Given the description of an element on the screen output the (x, y) to click on. 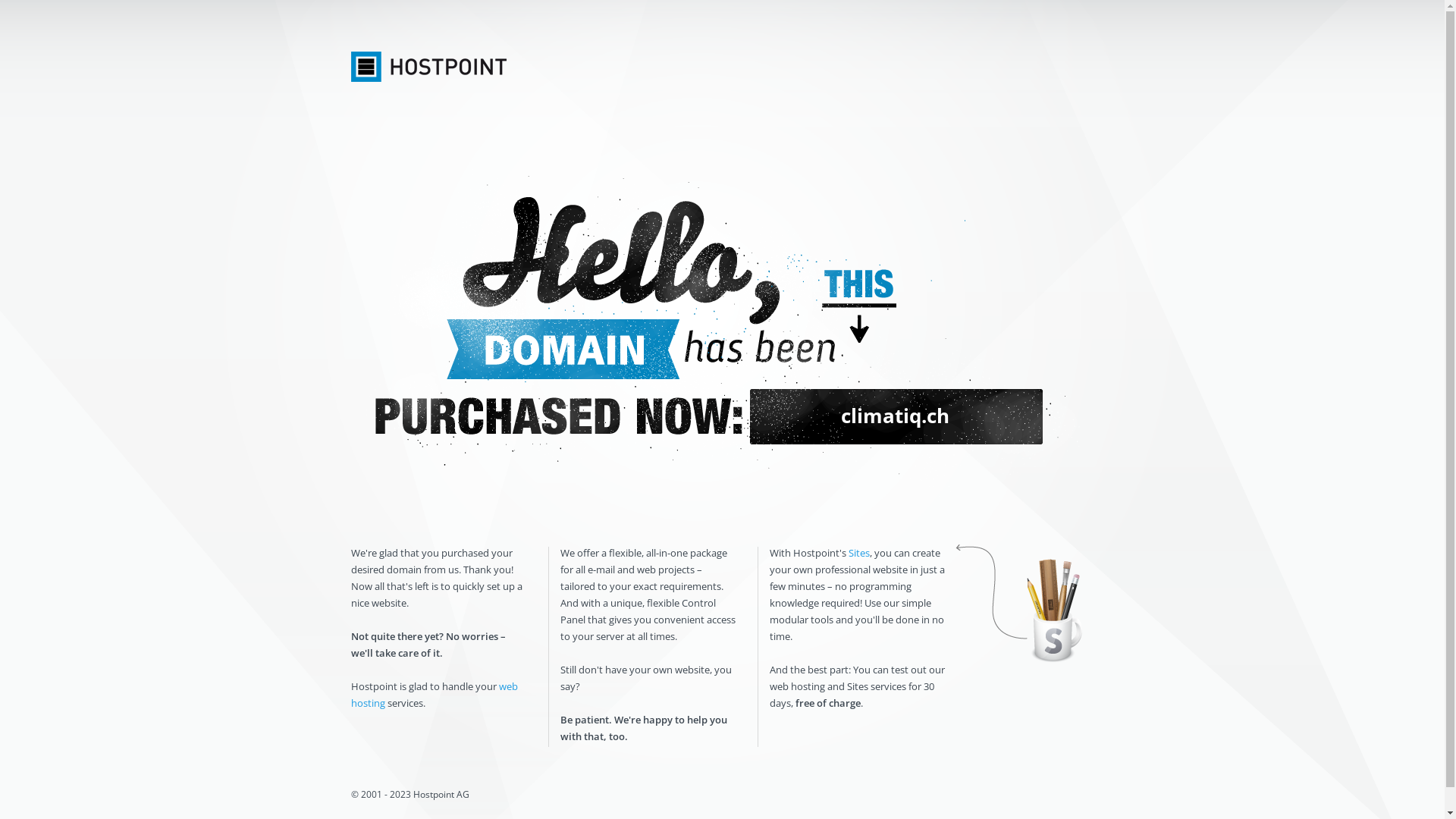
web hosting Element type: text (433, 694)
Sites Element type: text (858, 552)
